Given the description of an element on the screen output the (x, y) to click on. 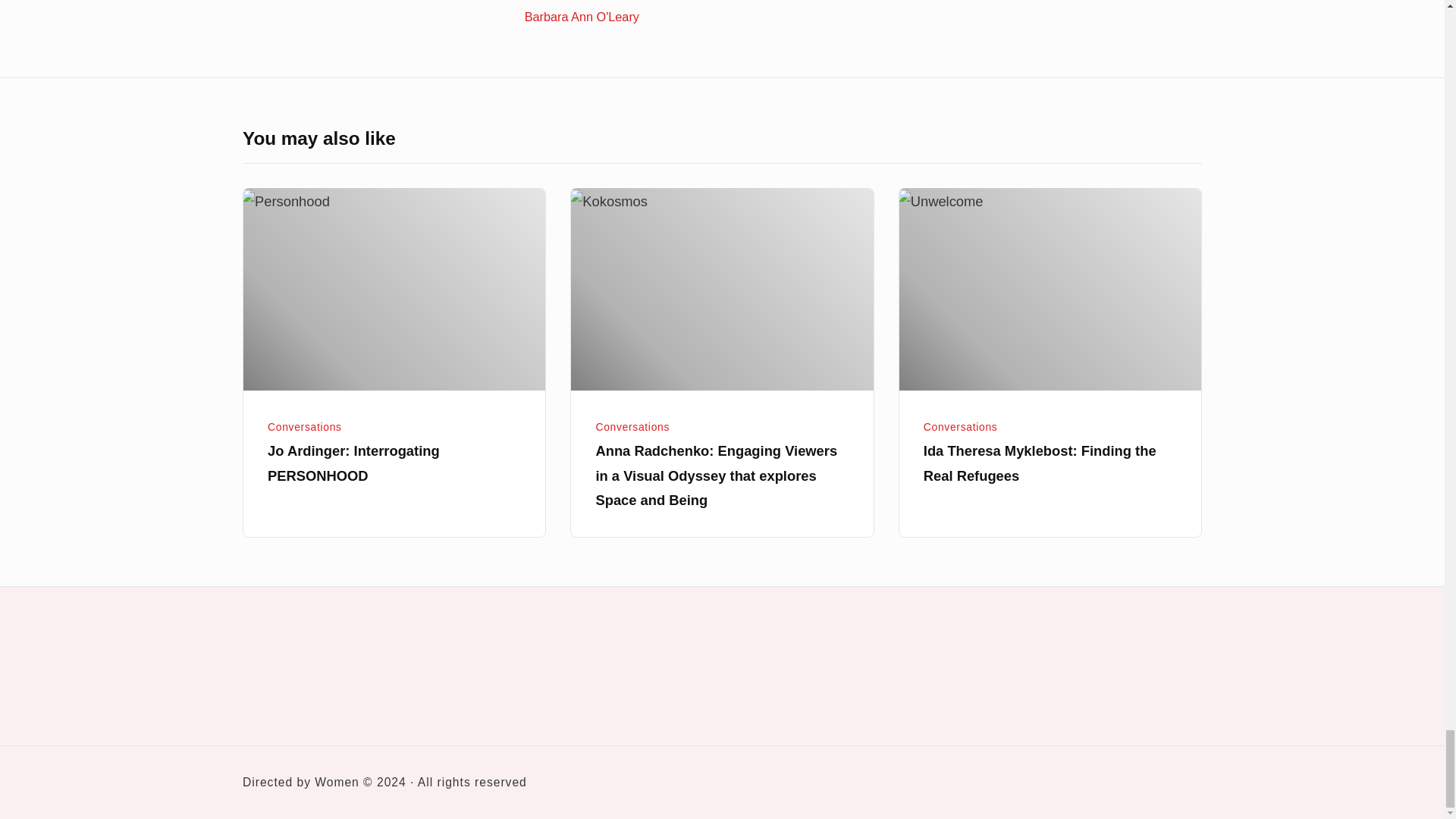
Jo Ardinger: Interrogating PERSONHOOD (353, 463)
Conversations (304, 426)
Jo Ardinger: Interrogating PERSONHOOD (394, 289)
View all posts by Barbara Ann O'Leary (757, 11)
